Given the description of an element on the screen output the (x, y) to click on. 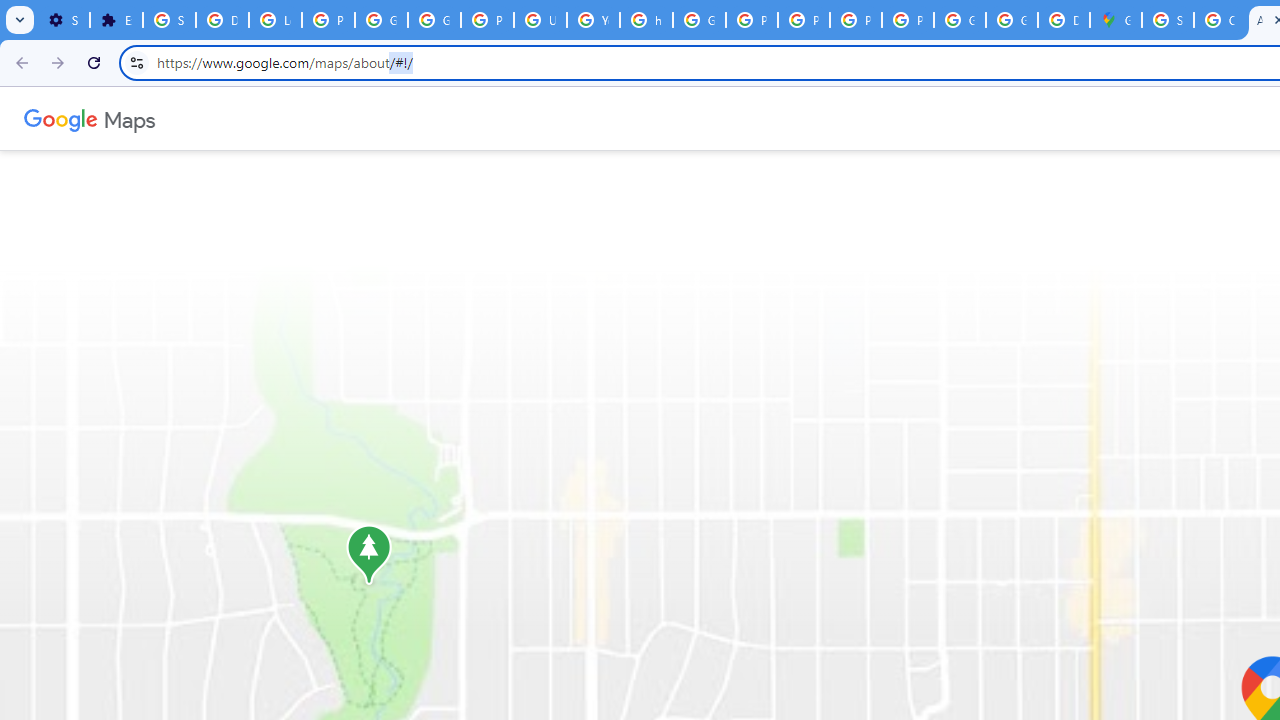
https://scholar.google.com/ (646, 20)
Maps (129, 118)
Create your Google Account (1219, 20)
Sign in - Google Accounts (1167, 20)
